Given the description of an element on the screen output the (x, y) to click on. 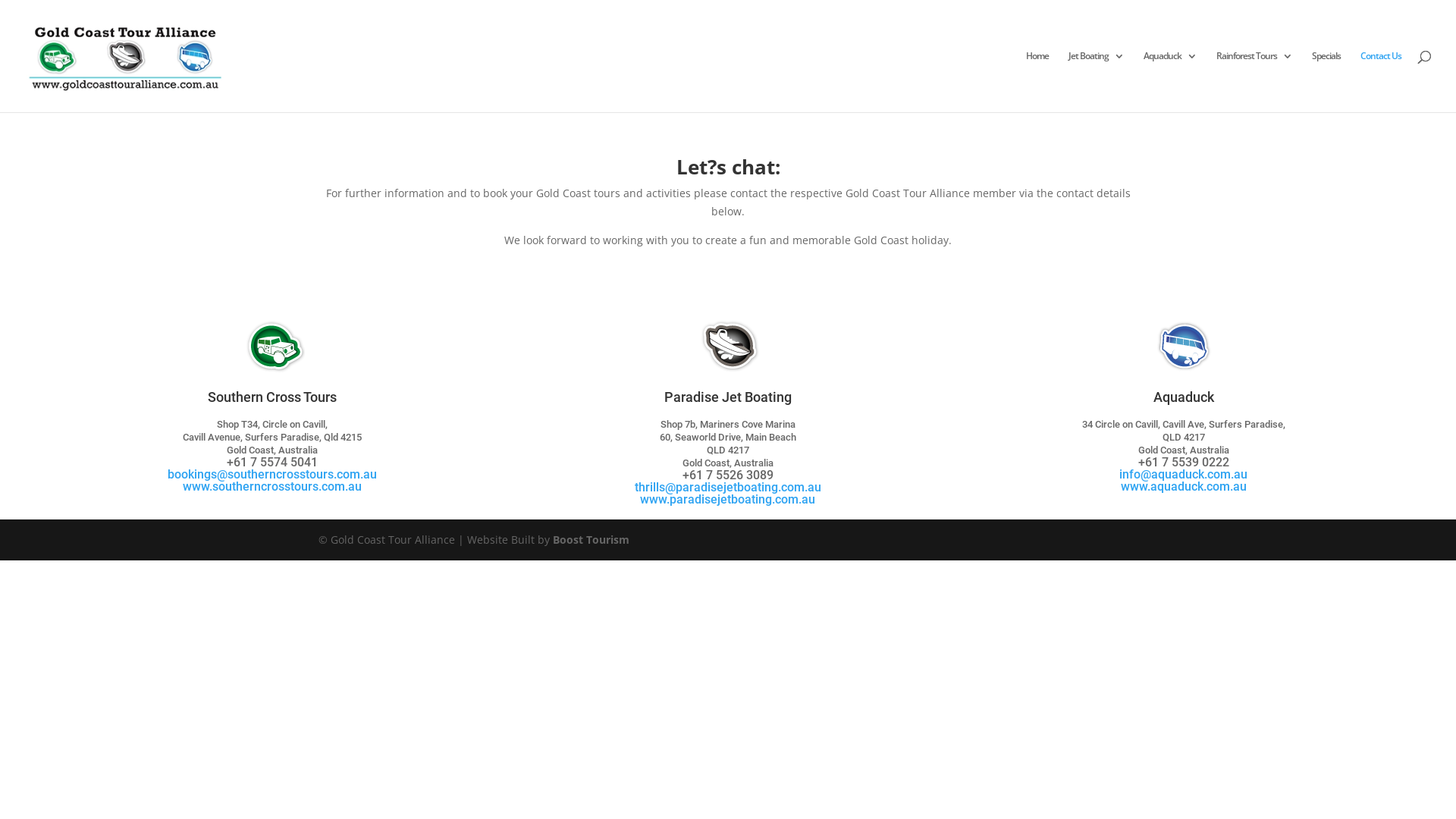
Jet Boating Element type: text (1095, 81)
Rainforest Tours Element type: text (1254, 81)
info@aquaduck.com.au Element type: text (1183, 474)
Boost Tourism Element type: text (590, 539)
bookings@southerncrosstours.com.au Element type: text (271, 474)
www.aquaduck.com.au Element type: text (1183, 486)
thrills@paradisejetboating.com.au Element type: text (727, 487)
Aquaduck Element type: text (1169, 81)
www.paradisejetboating.com.au Element type: text (727, 499)
Home Element type: text (1037, 81)
www.southerncrosstours.com.au Element type: text (271, 486)
Contact Us Element type: text (1380, 81)
Specials Element type: text (1325, 81)
